Given the description of an element on the screen output the (x, y) to click on. 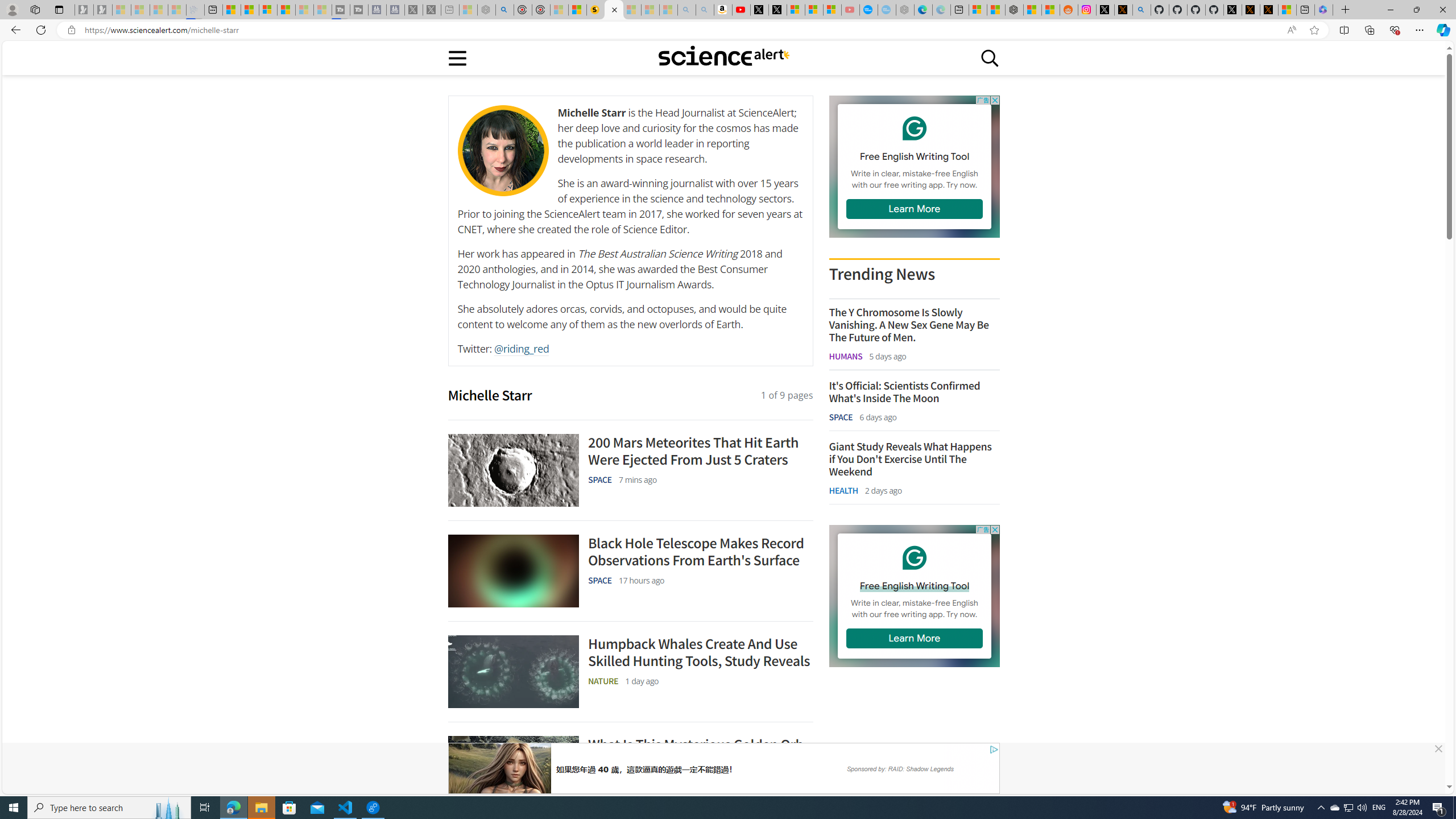
SPACE (840, 416)
Nordace - Summer Adventures 2024 - Sleeping (486, 9)
Wildlife - MSN - Sleeping (467, 9)
A grey image of a crater on Mars (512, 470)
